Given the description of an element on the screen output the (x, y) to click on. 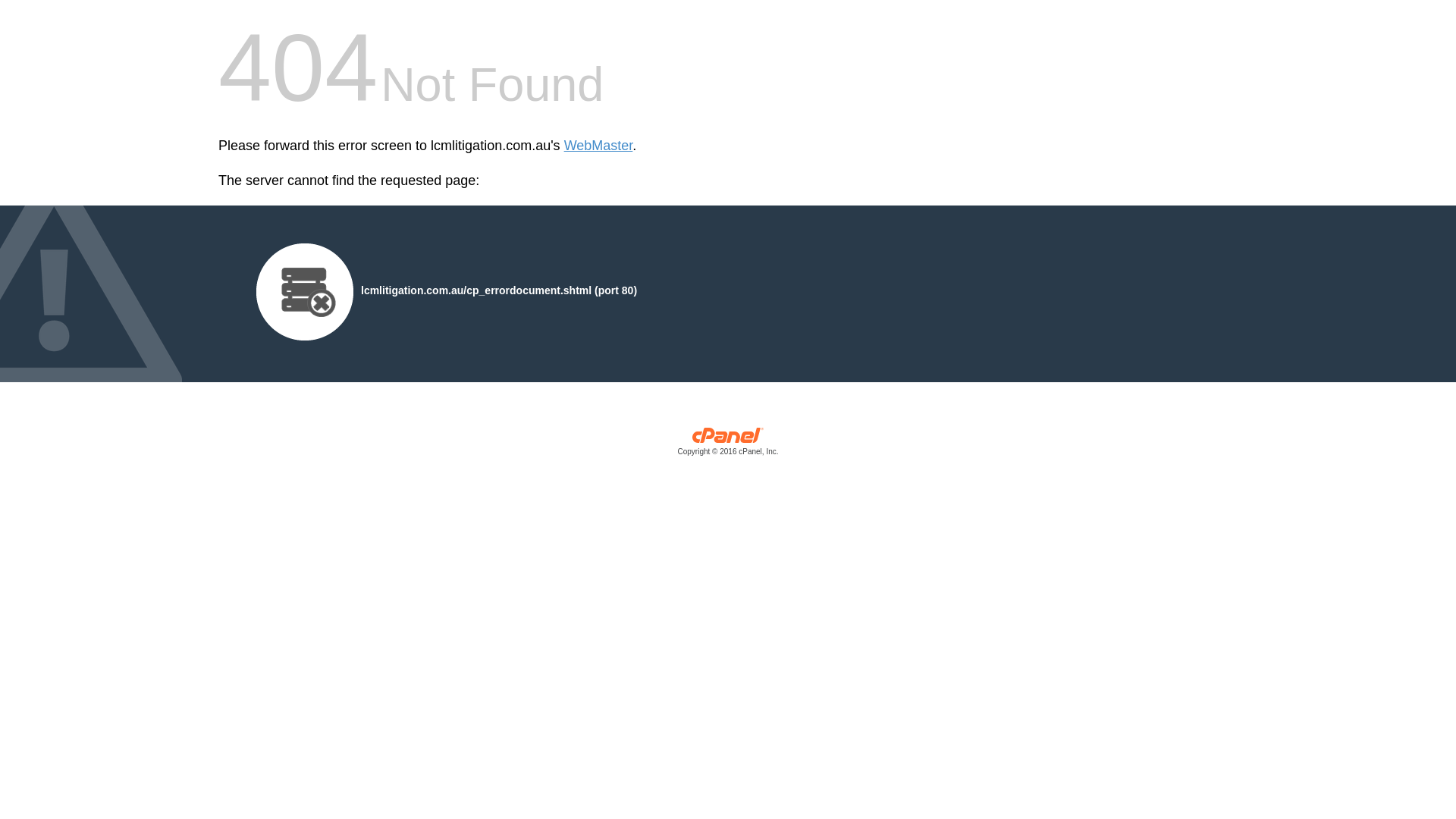
WebMaster Element type: text (598, 145)
